Given the description of an element on the screen output the (x, y) to click on. 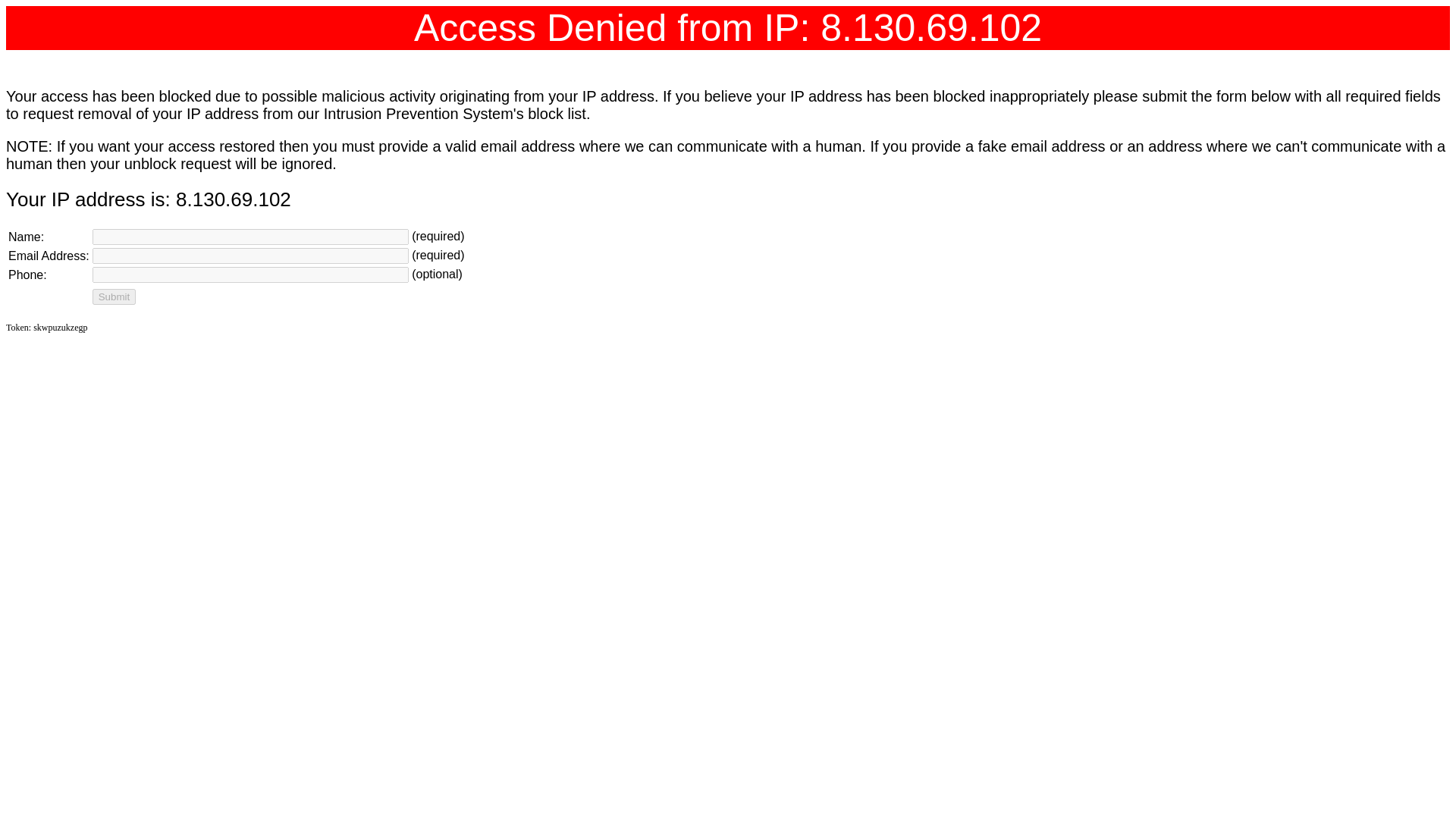
Submit (114, 296)
Submit (114, 296)
